Given the description of an element on the screen output the (x, y) to click on. 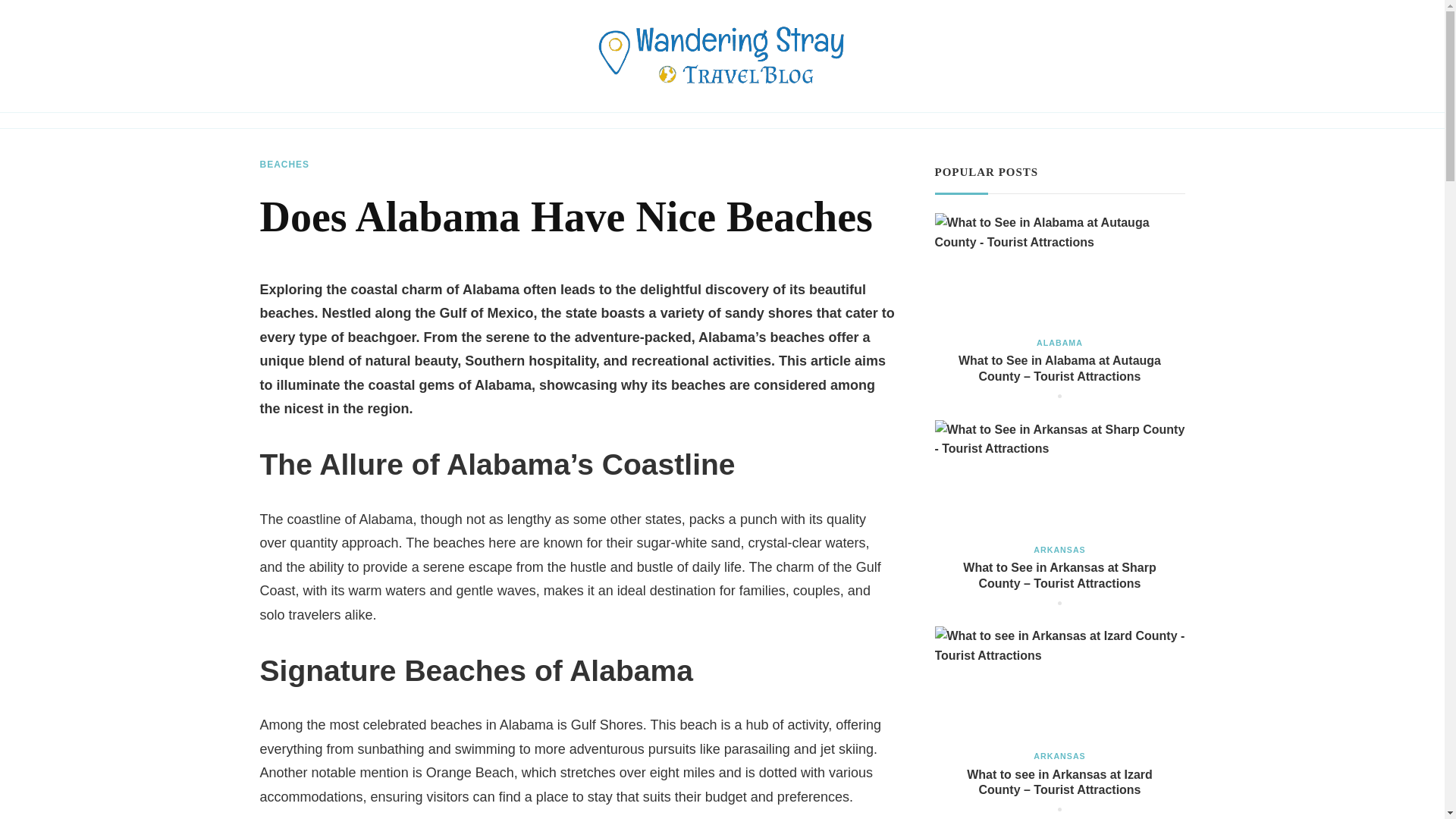
ARKANSAS (1058, 549)
ALABAMA (1059, 342)
ARKANSAS (1058, 756)
BEACHES (283, 164)
